Given the description of an element on the screen output the (x, y) to click on. 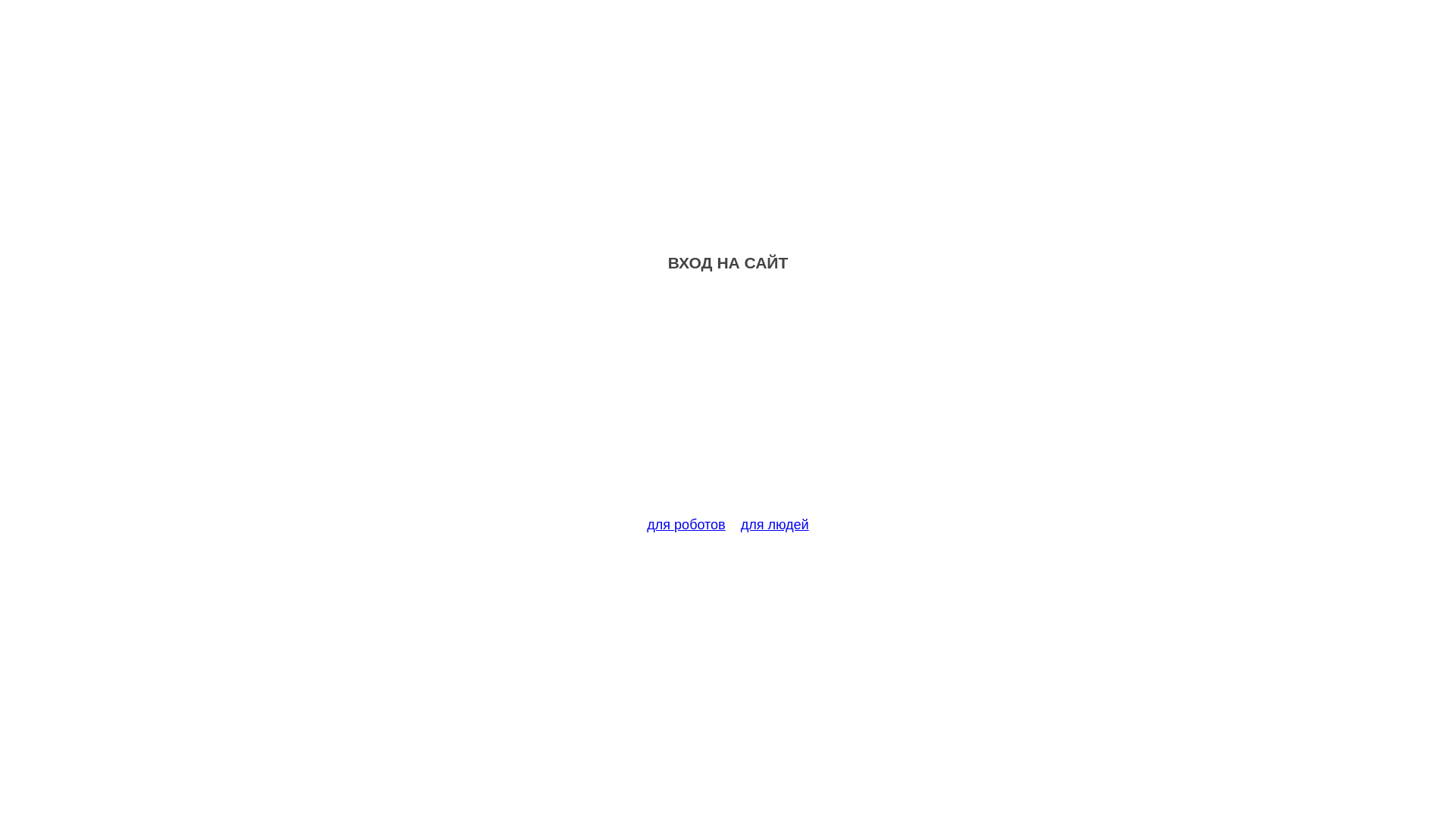
Advertisement Element type: hover (727, 403)
